Given the description of an element on the screen output the (x, y) to click on. 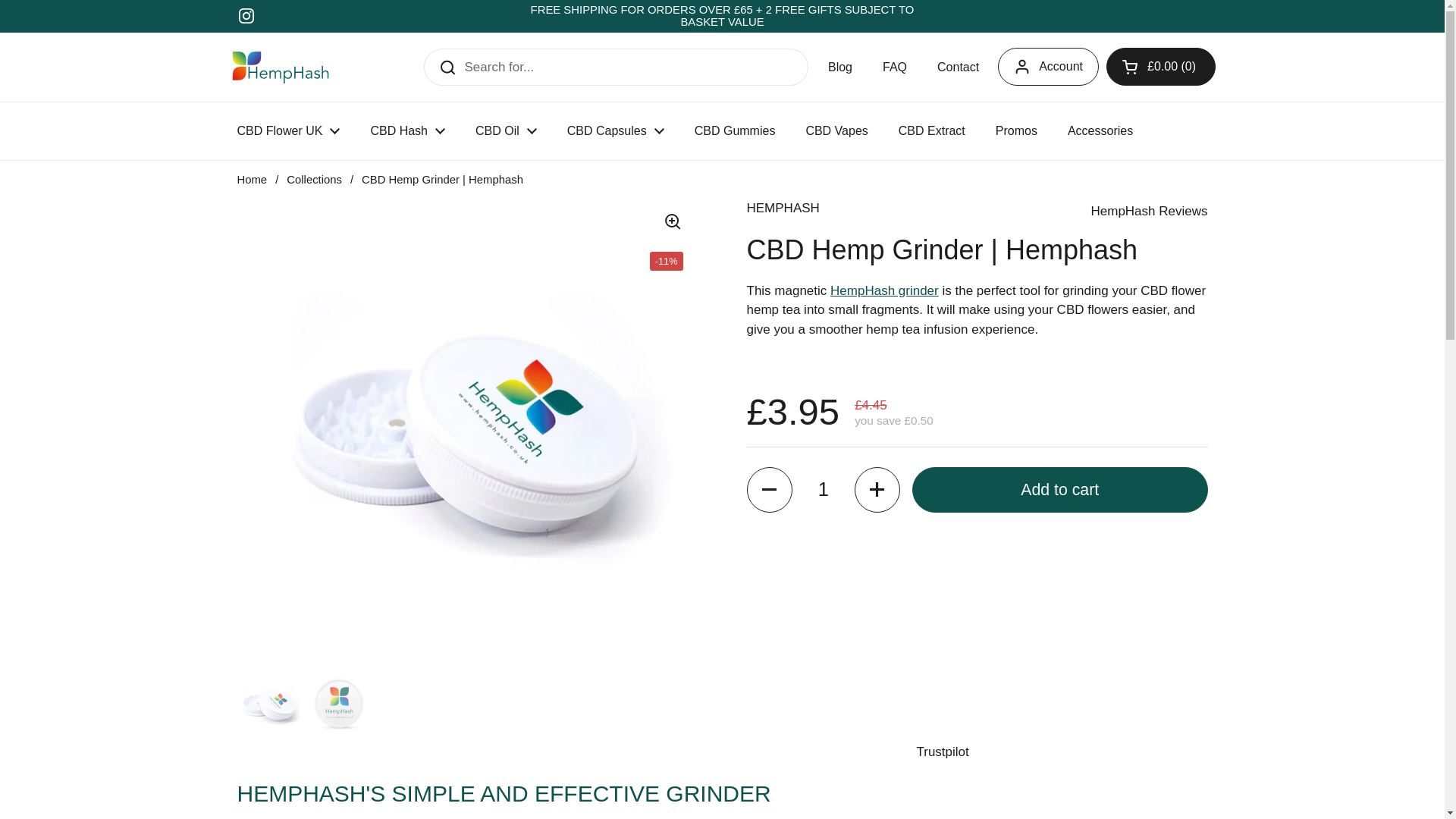
CBD Hash (407, 130)
Instagram (244, 15)
CBD Gummies (734, 130)
FAQ (894, 66)
CBD Oil (505, 130)
CBD Flower UK (288, 130)
Promos (1015, 130)
CBD Extract (931, 130)
Contact (958, 66)
Open cart (1160, 66)
CBD Vapes (836, 130)
HempHash (279, 66)
Account (1048, 66)
CBD Capsules (615, 130)
